Given the description of an element on the screen output the (x, y) to click on. 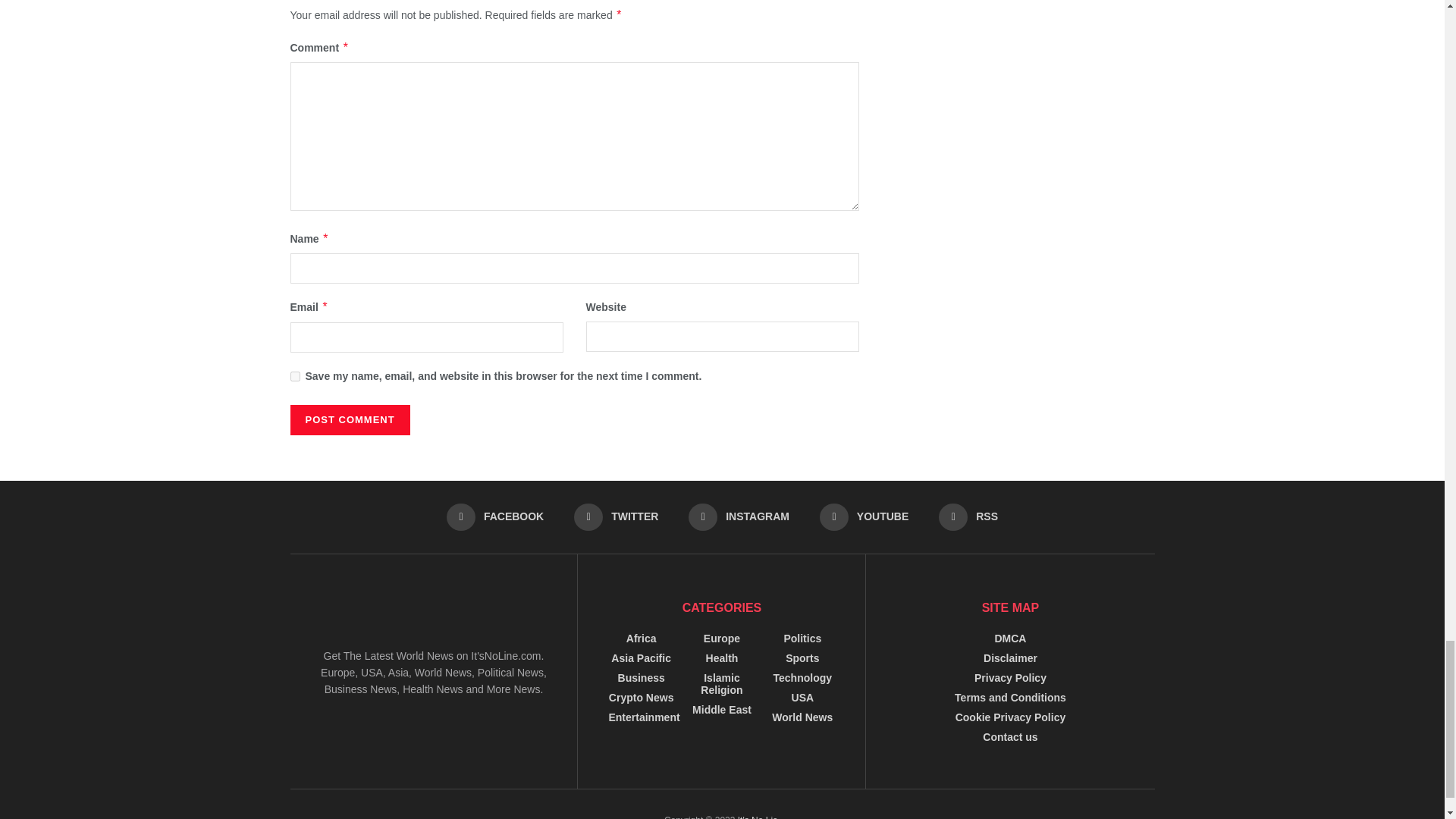
yes (294, 376)
It's No Lie (757, 816)
Post Comment (349, 419)
